Given the description of an element on the screen output the (x, y) to click on. 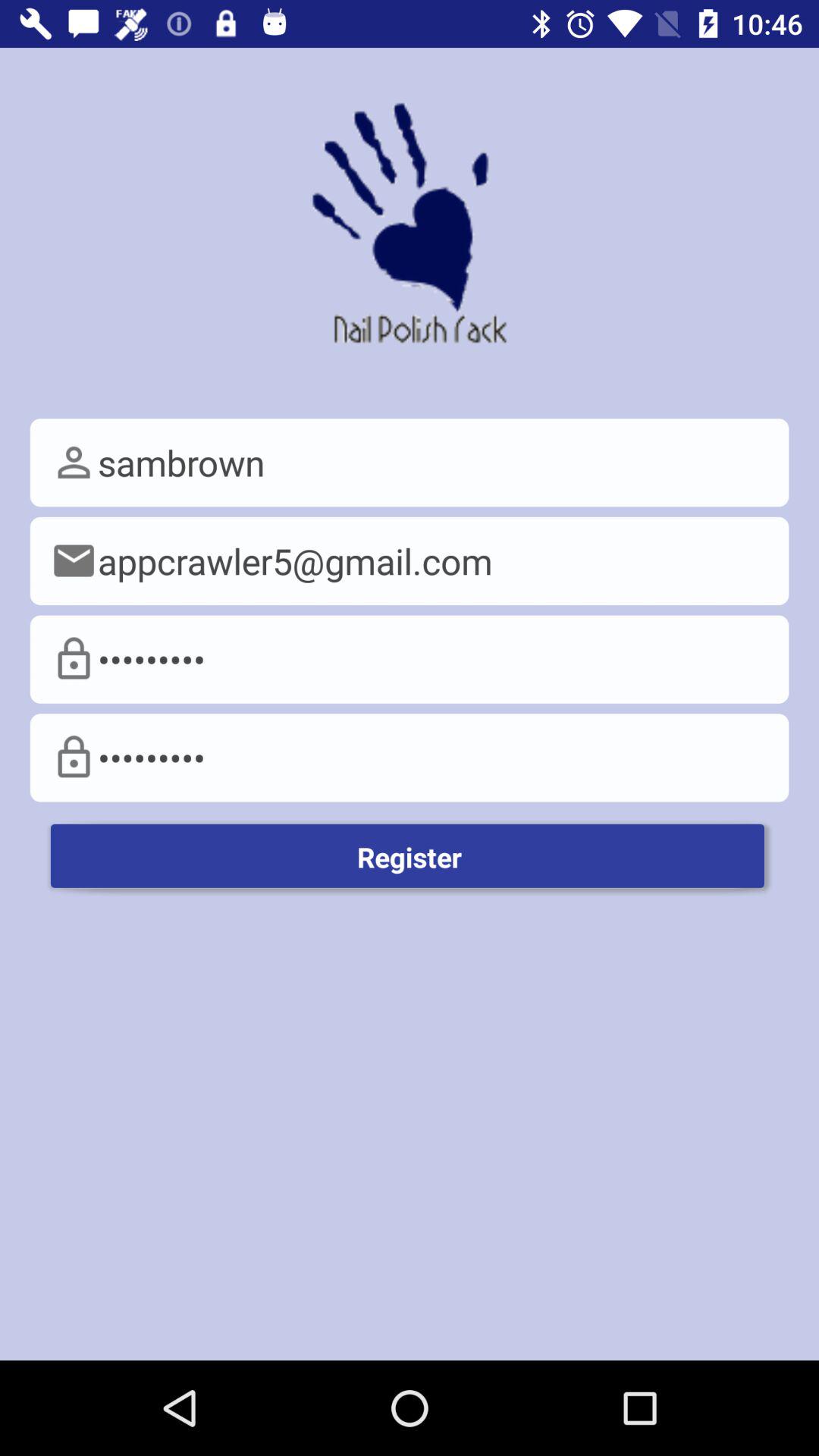
select the appcrawler5@gmail.com (409, 560)
